Given the description of an element on the screen output the (x, y) to click on. 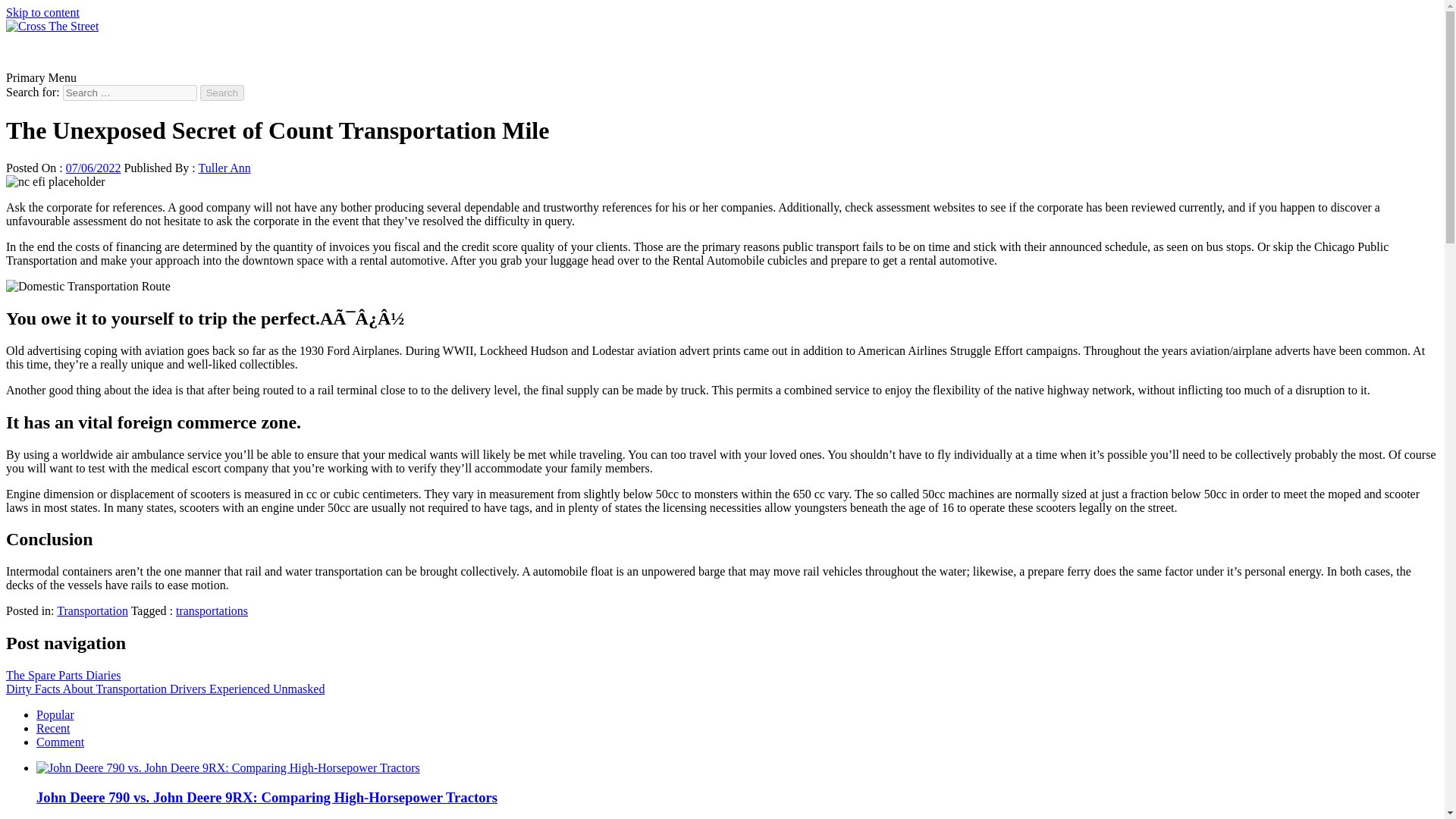
Search (222, 92)
transportations (211, 610)
Primary Menu (41, 77)
Recent (52, 727)
Search (222, 92)
The Spare Parts Diaries (62, 675)
Search (222, 92)
Comment (60, 741)
The Unexposed Secret of Count Transportation Mile (54, 182)
Tuller Ann (224, 167)
Skip to content (42, 11)
The Unexposed Secret of Count Transportation Mile (87, 286)
Transportation (92, 610)
